Given the description of an element on the screen output the (x, y) to click on. 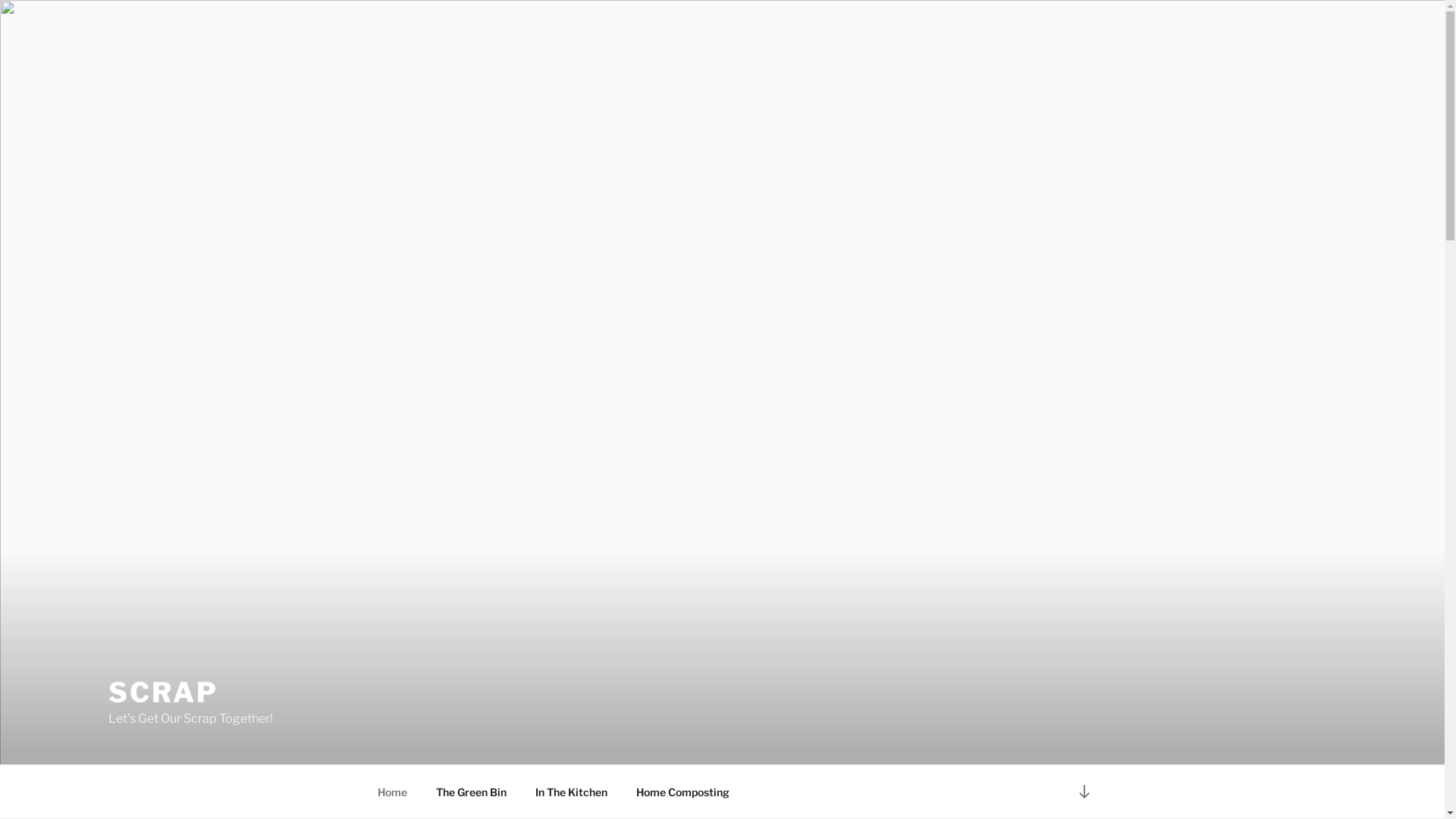
Home Composting Element type: text (683, 791)
Home Element type: text (392, 791)
The Green Bin Element type: text (471, 791)
SCRAP Element type: text (162, 692)
In The Kitchen Element type: text (570, 791)
Scroll down to content Element type: text (1083, 790)
